Given the description of an element on the screen output the (x, y) to click on. 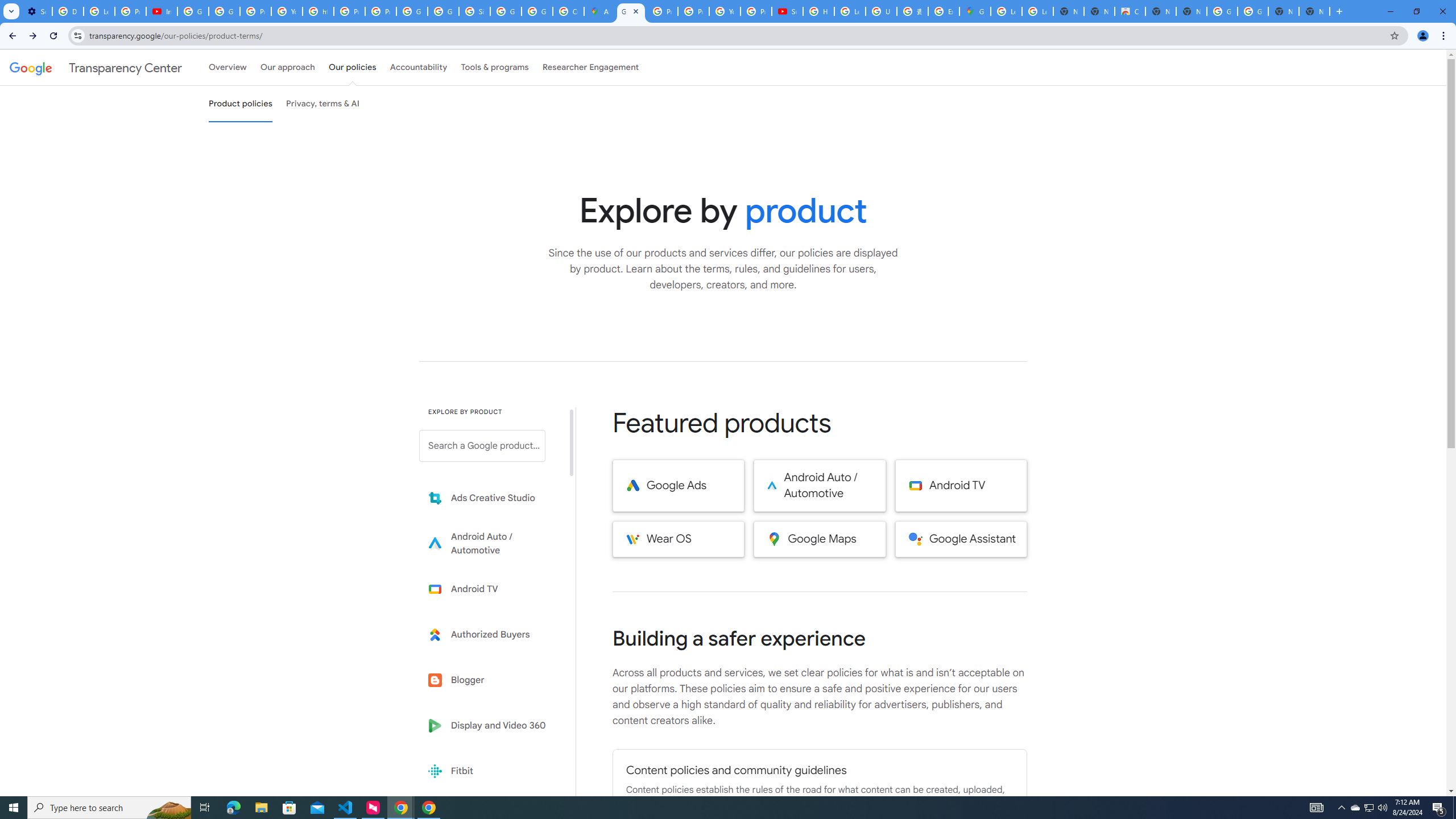
Researcher Engagement (590, 67)
Google Ads (678, 485)
Learn more about Ads Creative Studio (490, 497)
Wear OS (678, 538)
Google Account Help (192, 11)
Learn more about Authorized Buyers (490, 634)
Privacy Help Center - Policies Help (662, 11)
New Tab (1314, 11)
